Given the description of an element on the screen output the (x, y) to click on. 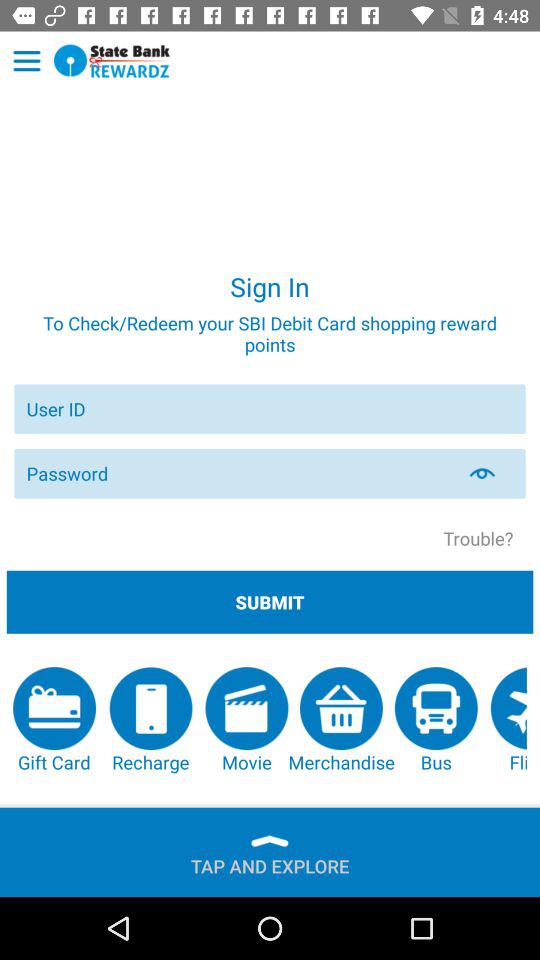
enter user id (269, 408)
